Given the description of an element on the screen output the (x, y) to click on. 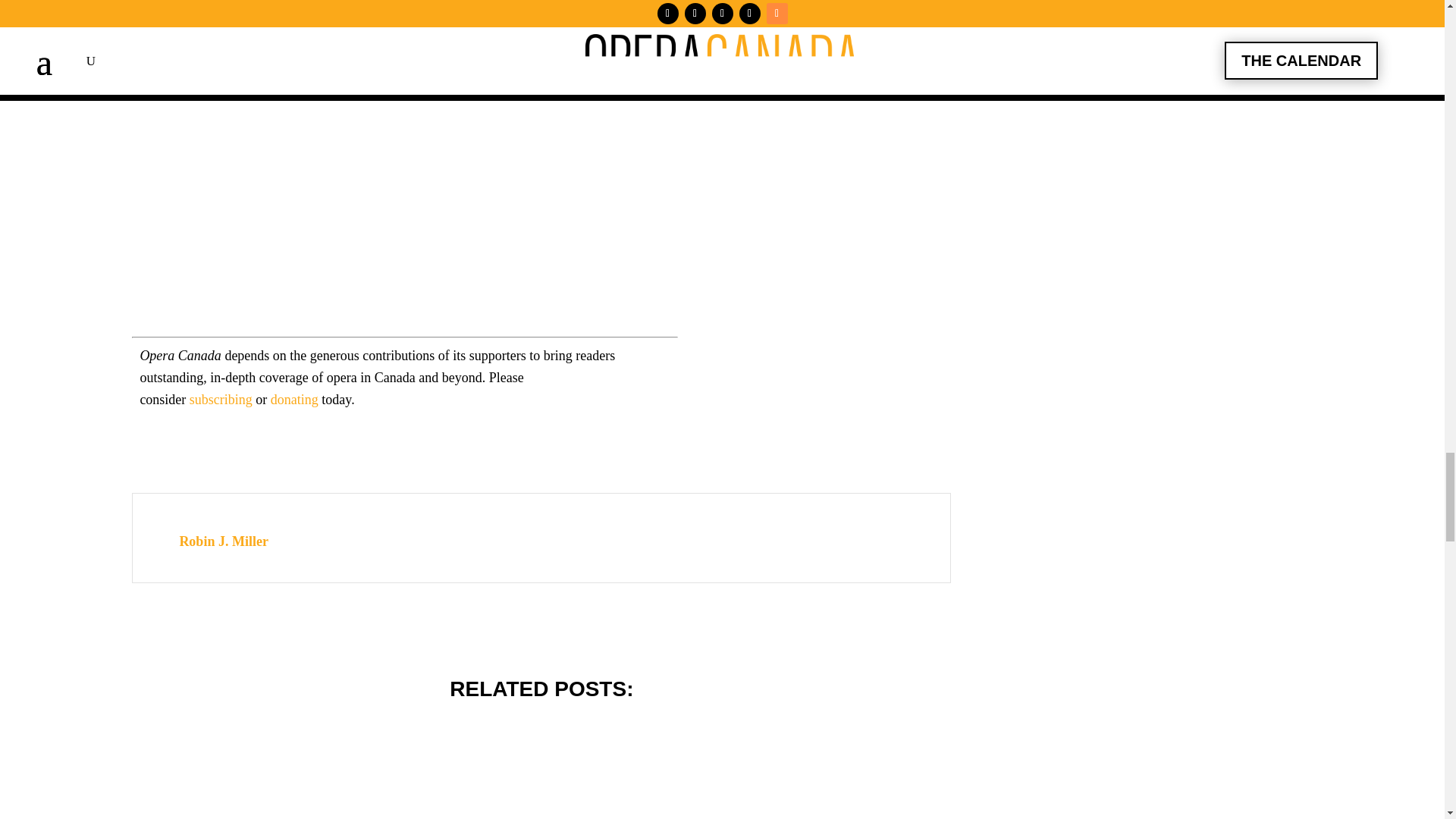
Robin J. Miller (223, 551)
donating (66, 769)
subscribing (294, 399)
